Given the description of an element on the screen output the (x, y) to click on. 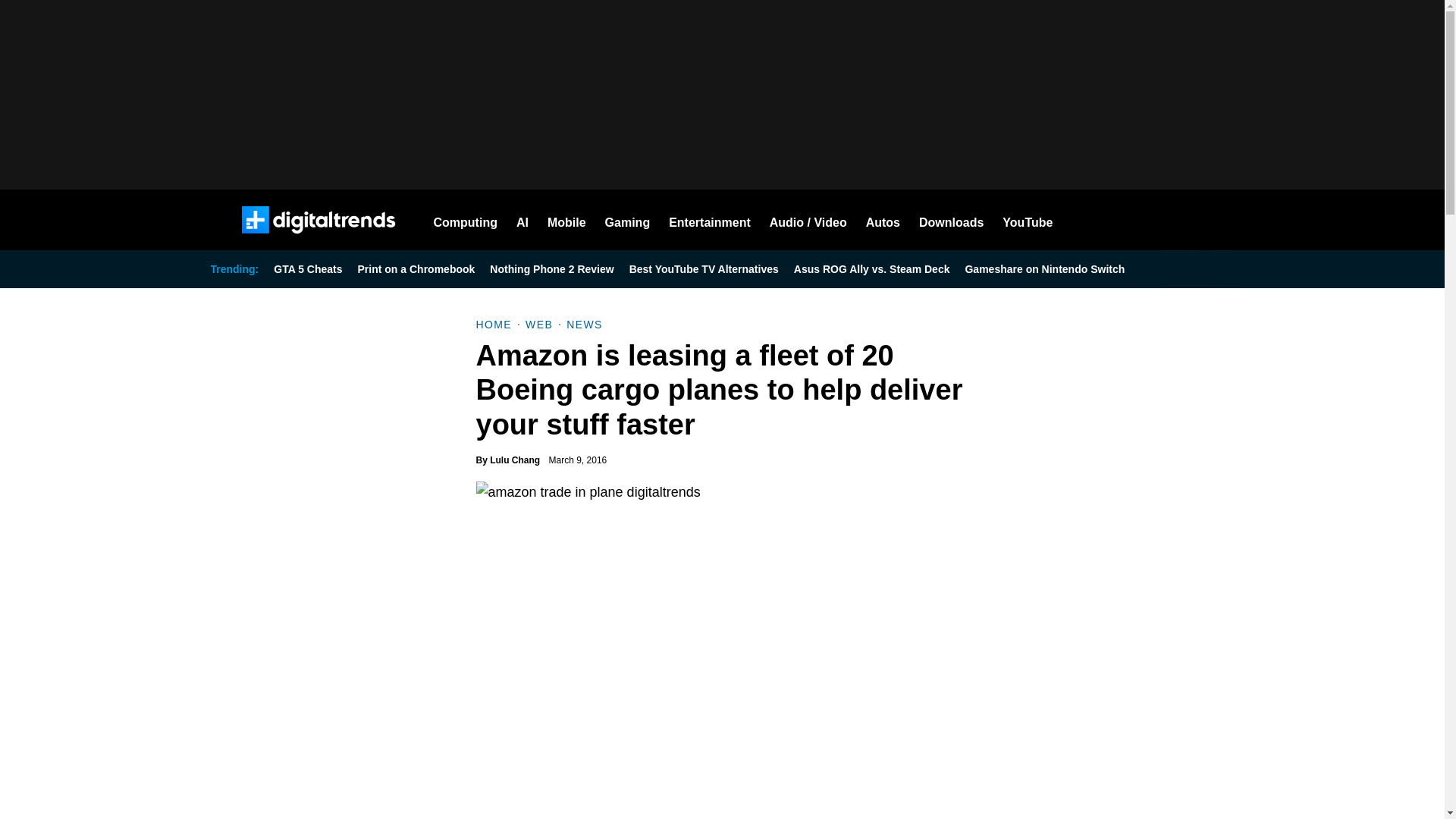
Computing (465, 219)
Downloads (951, 219)
Entertainment (709, 219)
